Given the description of an element on the screen output the (x, y) to click on. 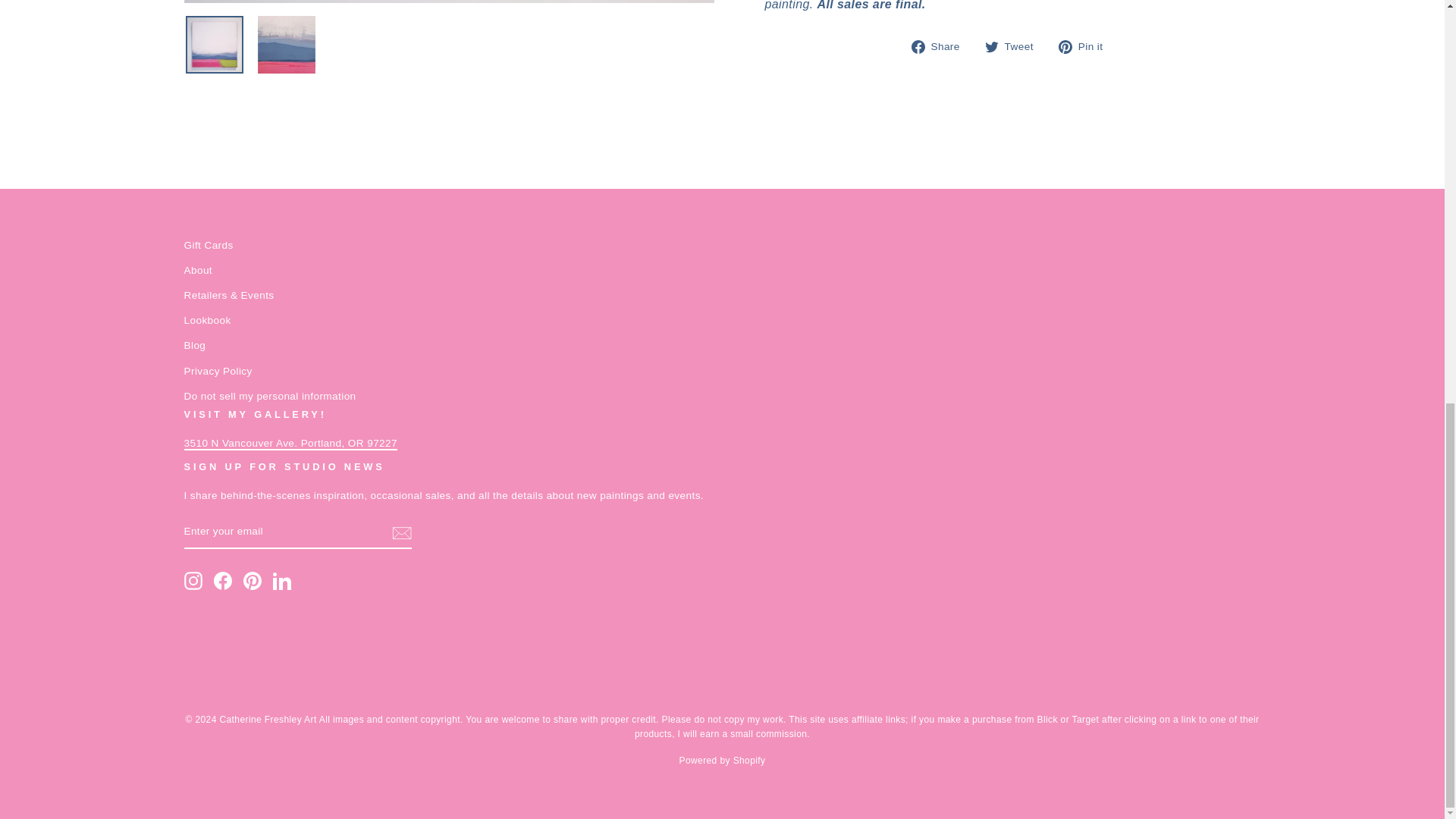
icon-email (400, 533)
twitter (991, 47)
Catherine Freshley Art on LinkedIn (282, 580)
Catherine Freshley Art on Facebook (222, 580)
Pin on Pinterest (1085, 46)
Catherine Freshley Art on Instagram (192, 580)
Tweet on Twitter (1015, 46)
Share on Facebook (941, 46)
instagram (192, 580)
Catherine Freshley Art on Pinterest (251, 580)
